Given the description of an element on the screen output the (x, y) to click on. 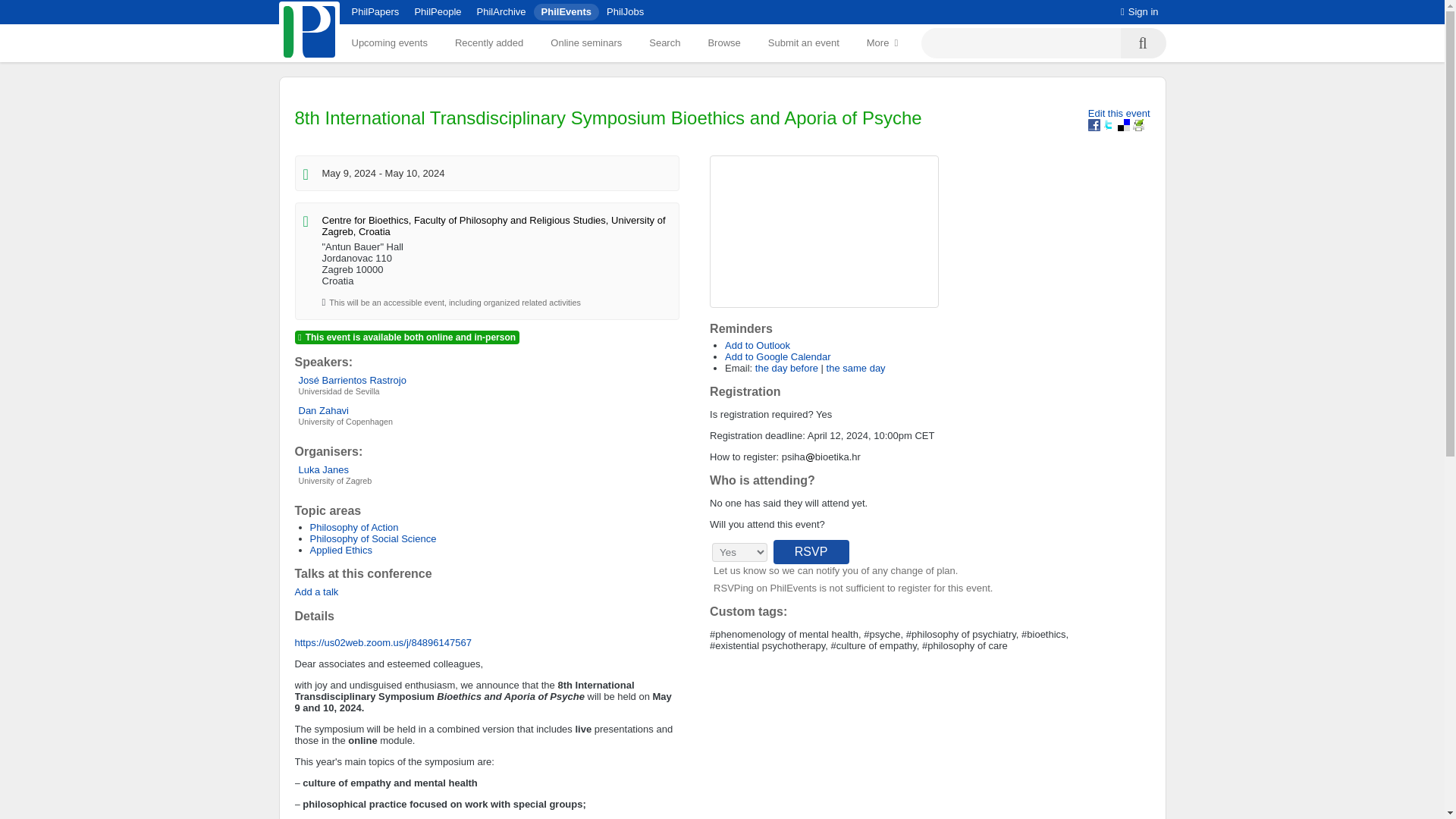
Search (665, 42)
Facebook (1093, 124)
Browse (723, 42)
PhilJobs (625, 11)
Edit this event (1118, 112)
Recently added (488, 42)
Online seminars (585, 42)
Print Friendly (1138, 124)
PhilPapers (375, 11)
PhilPeople (437, 11)
